Given the description of an element on the screen output the (x, y) to click on. 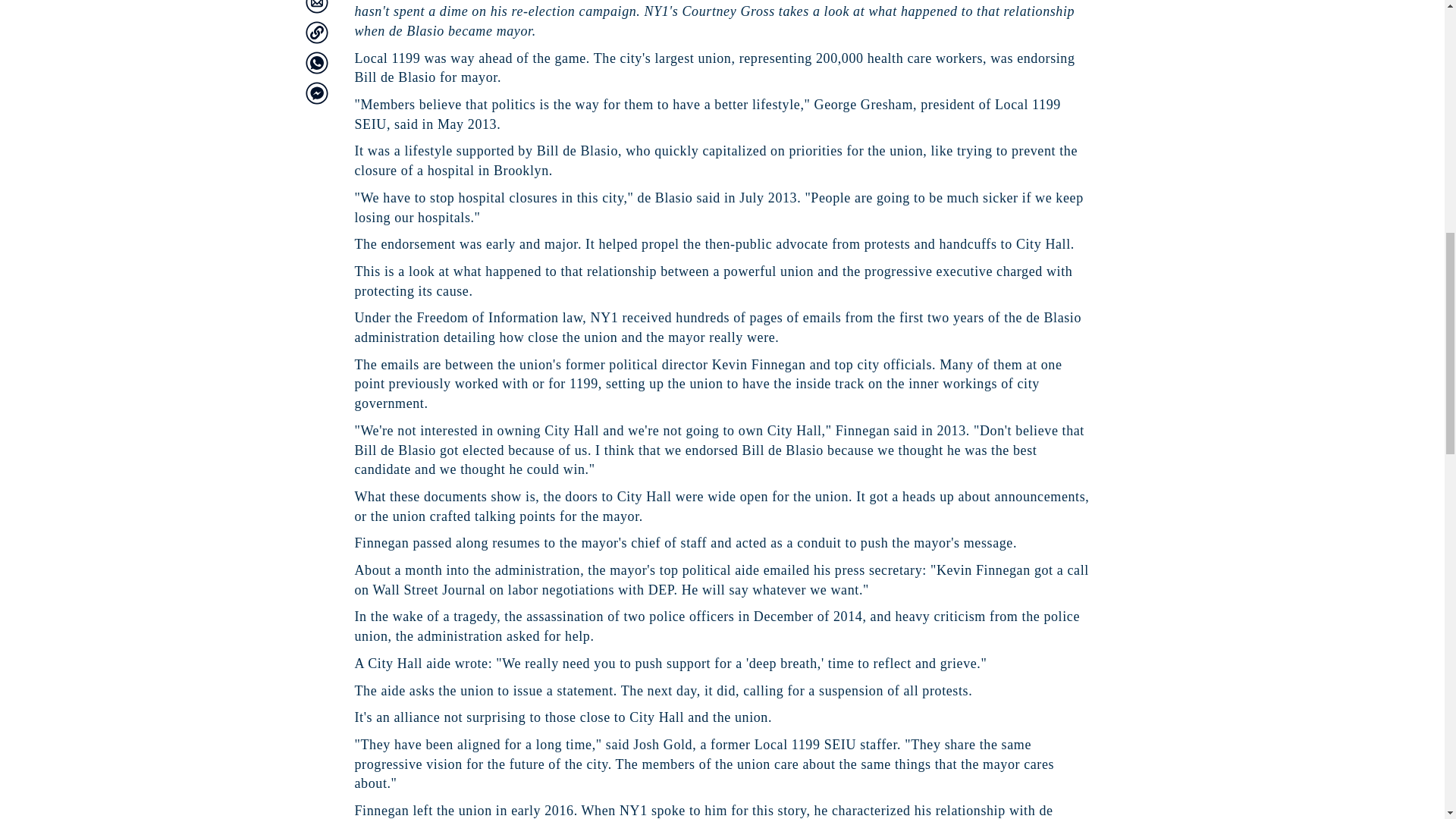
Share with Facebook Messenger (315, 92)
Share with Whatsapp (315, 62)
Copy article link (315, 32)
Share with Email (315, 6)
